Given the description of an element on the screen output the (x, y) to click on. 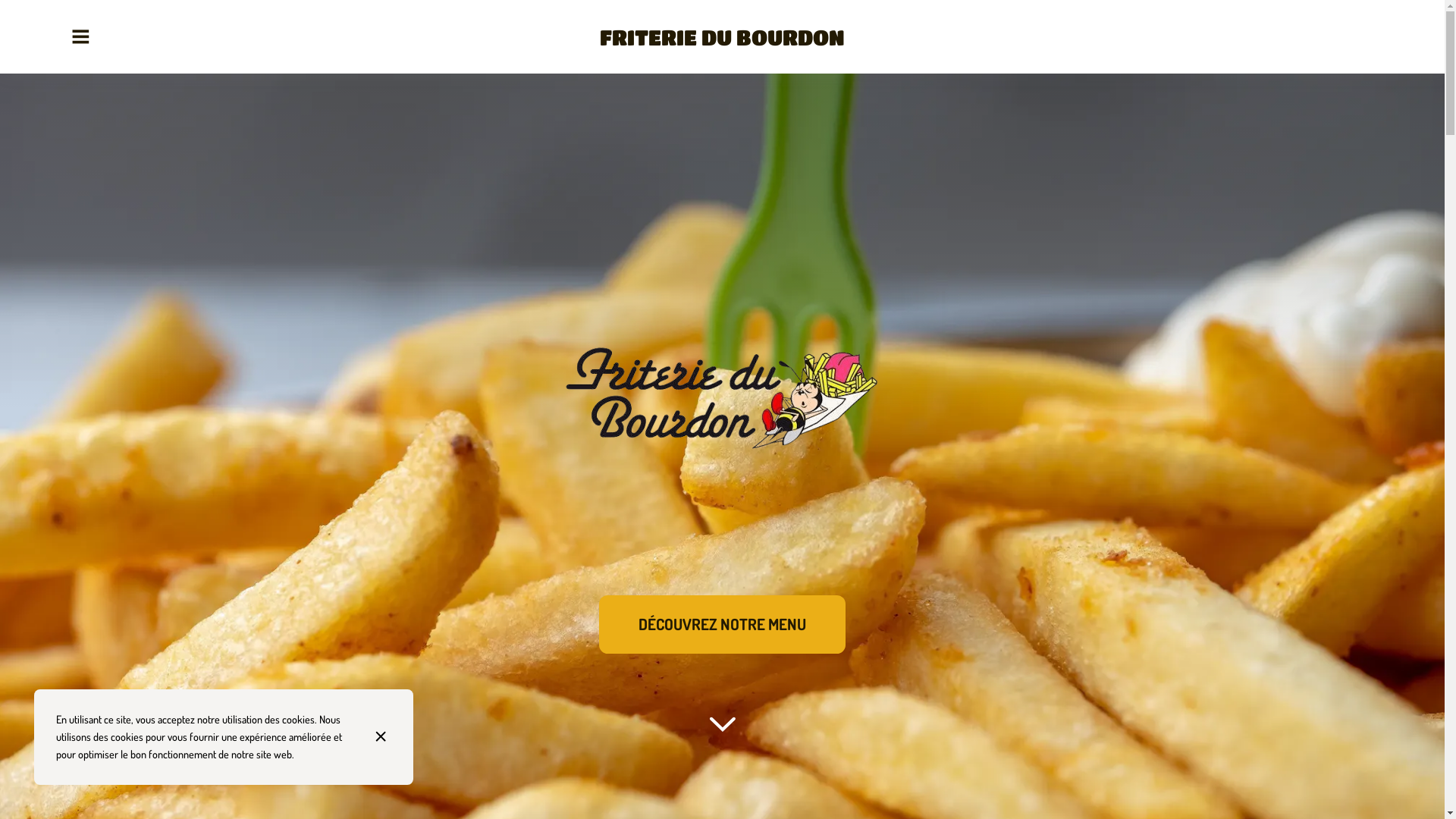
FRITERIE DU BOURDON
FRITERIE DU BOURDON Element type: text (721, 36)
